Given the description of an element on the screen output the (x, y) to click on. 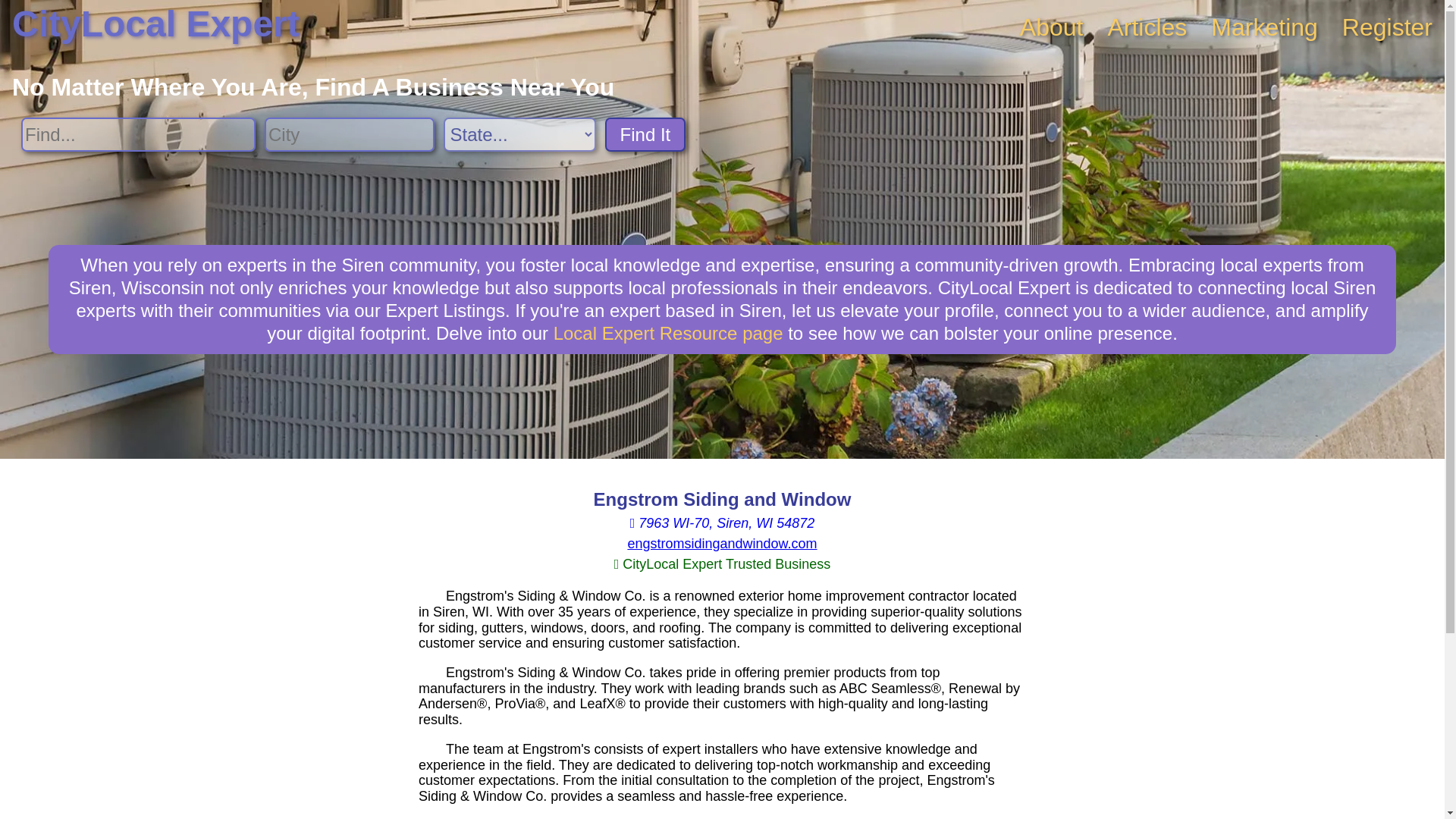
Find It (645, 134)
Register (1387, 27)
CityLocal Expert (155, 24)
Local Expert Resources (668, 332)
Marketing (1264, 27)
About CityLocal Expert (1051, 27)
Articles (1146, 27)
View on Google Maps (721, 523)
engstromsidingandwindow.com (721, 543)
Business Marketing Opportunites (1264, 27)
Articles (1146, 27)
Local Expert Resource page (668, 332)
Register My Business (1387, 27)
About (1051, 27)
